Given the description of an element on the screen output the (x, y) to click on. 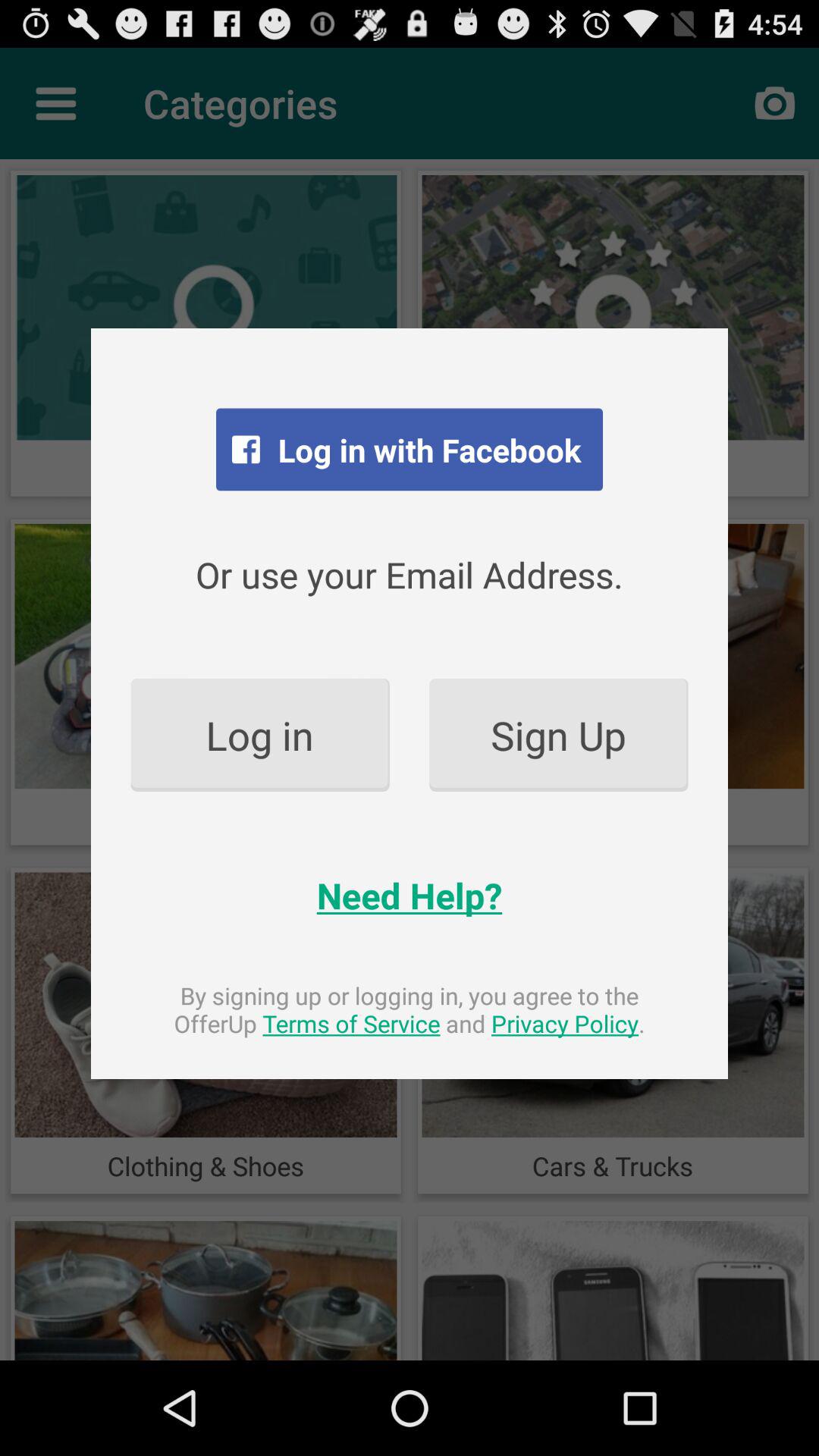
press item above the by signing up (409, 895)
